Given the description of an element on the screen output the (x, y) to click on. 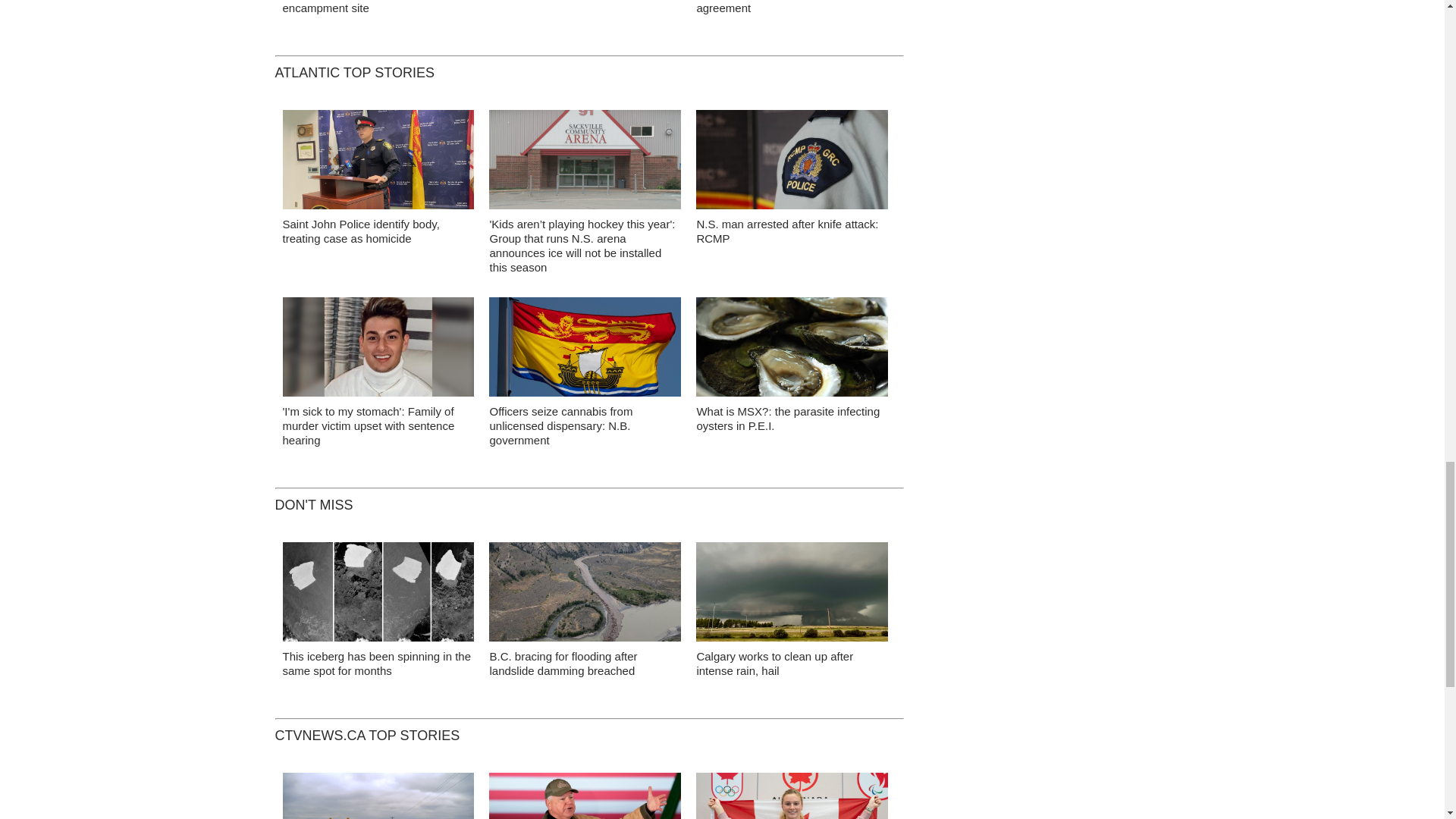
Sackville Community Arena (585, 163)
Max Boudreau (378, 350)
Saint John Police identify body, treating case as homicide (360, 230)
Halifax councillors reconsidering encampment site (363, 7)
RCMP  (791, 163)
Halifax Longshoremen protest work agreement (785, 7)
Flag (585, 350)
N.S. man arrested after knife attack: RCMP (786, 230)
Staff Sgt. Matt Weir (378, 163)
